Given the description of an element on the screen output the (x, y) to click on. 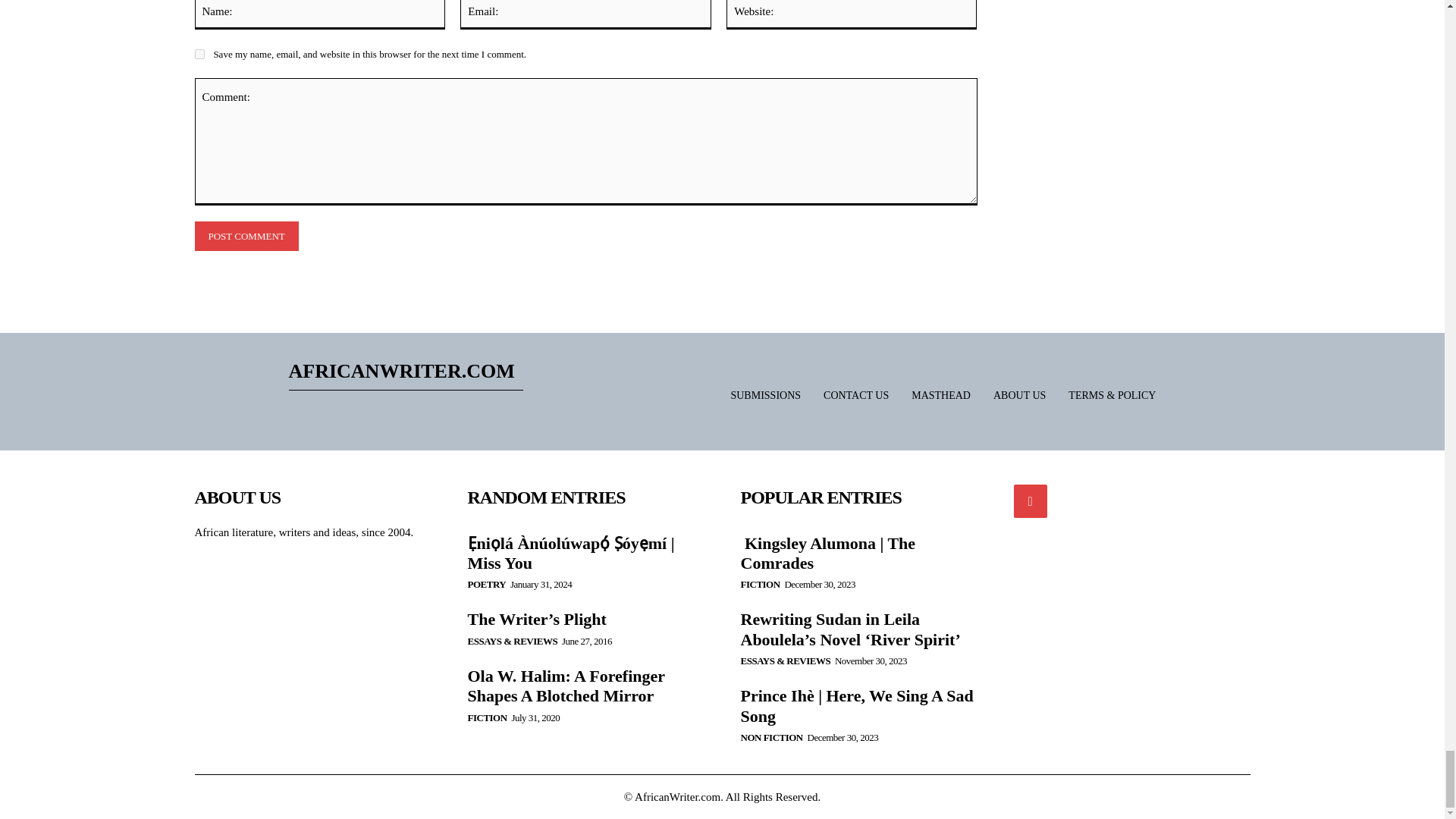
Post Comment (245, 235)
yes (198, 53)
